Given the description of an element on the screen output the (x, y) to click on. 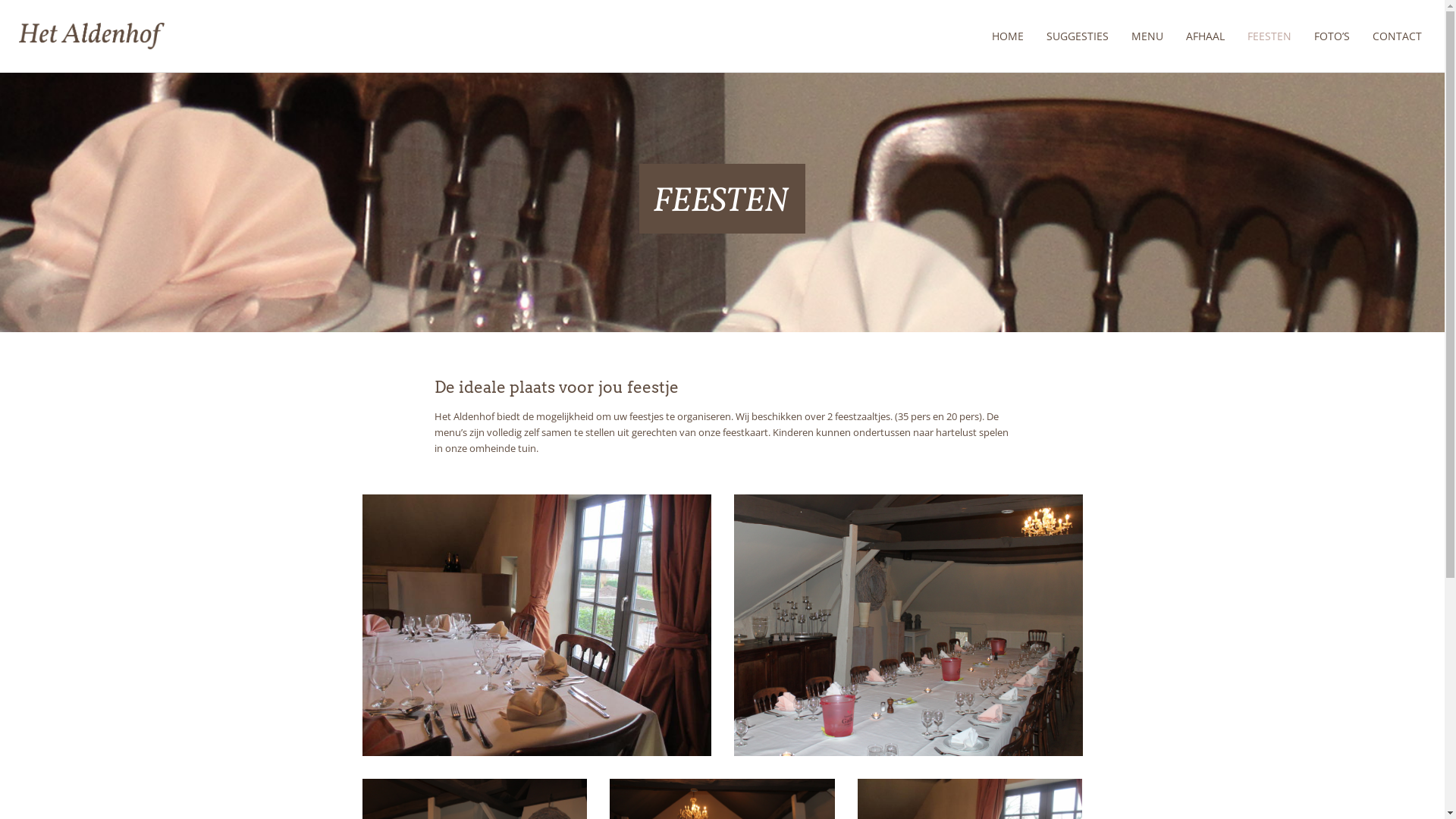
SUGGESTIES Element type: text (1077, 36)
MENU Element type: text (1147, 36)
HOME Element type: text (1007, 36)
FEESTEN Element type: text (1269, 36)
AFHAAL Element type: text (1205, 36)
CONTACT Element type: text (1397, 36)
